Given the description of an element on the screen output the (x, y) to click on. 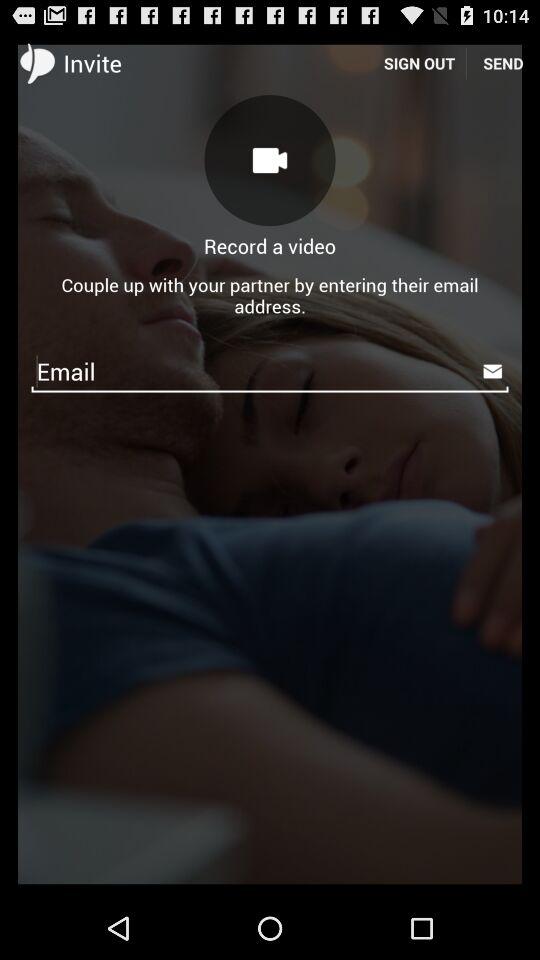
press icon to the right of sign out item (503, 62)
